Given the description of an element on the screen output the (x, y) to click on. 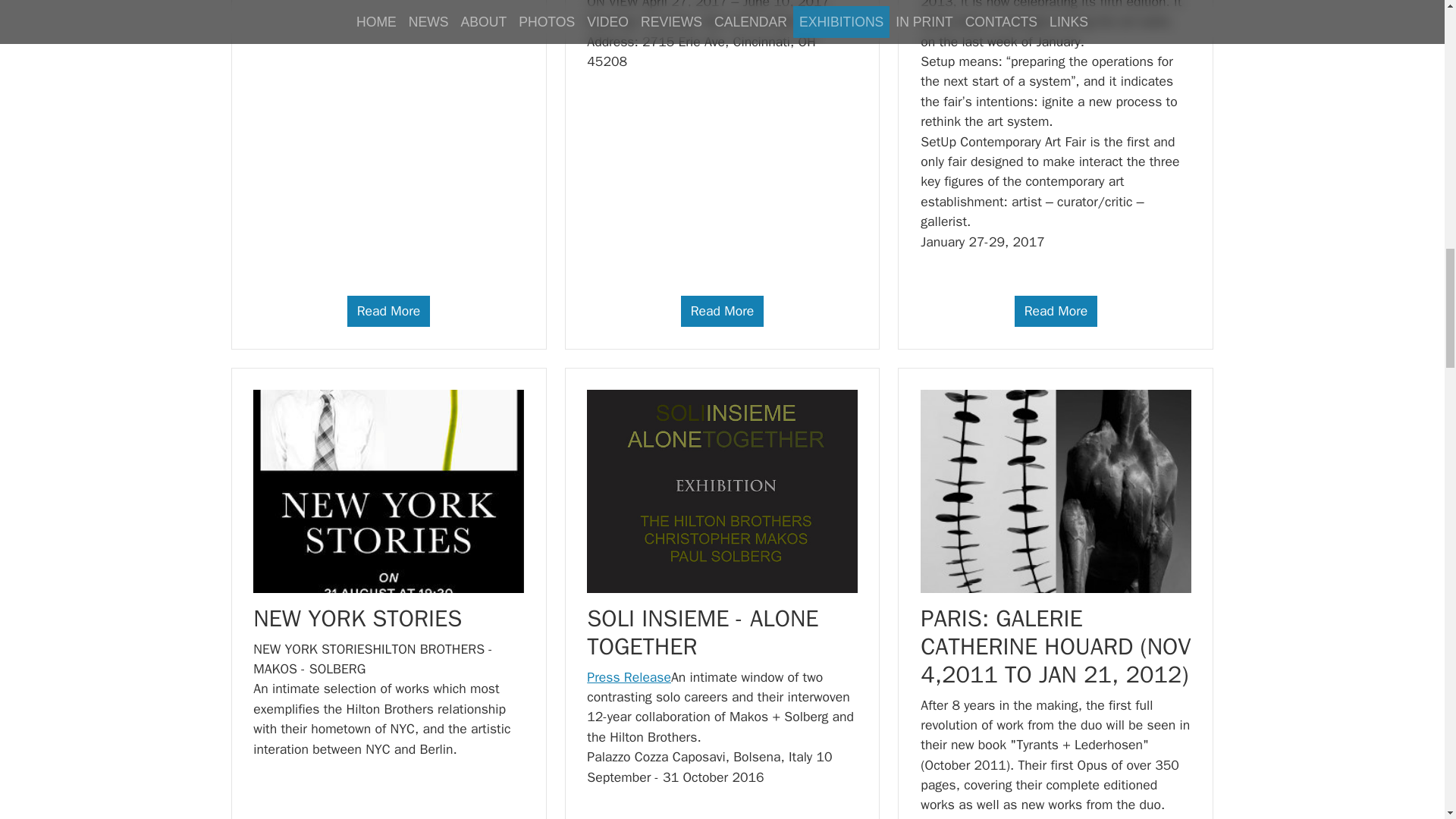
Press Release (628, 677)
